Given the description of an element on the screen output the (x, y) to click on. 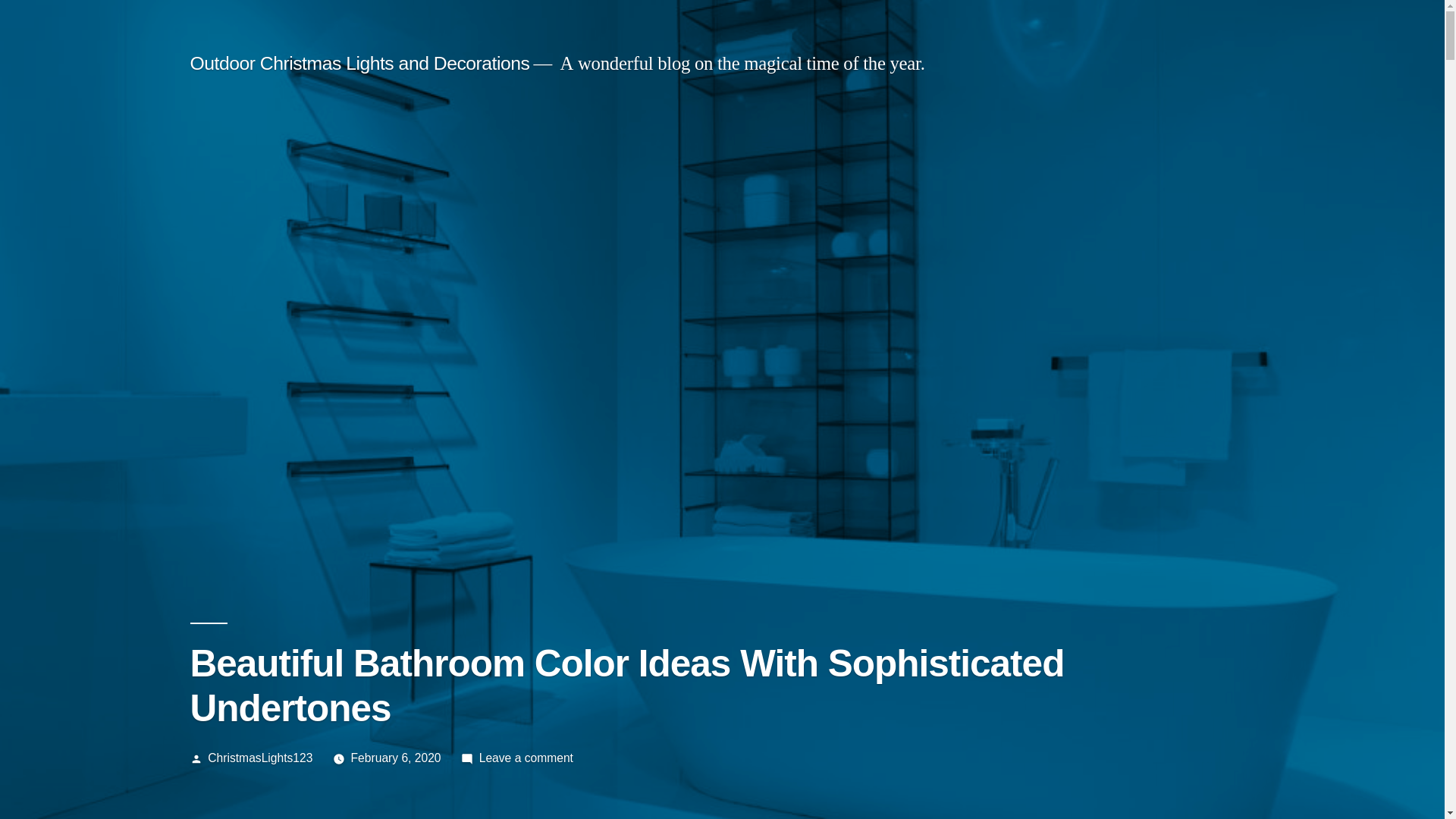
February 6, 2020 (395, 757)
ChristmasLights123 (260, 757)
Outdoor Christmas Lights and Decorations (359, 63)
